Given the description of an element on the screen output the (x, y) to click on. 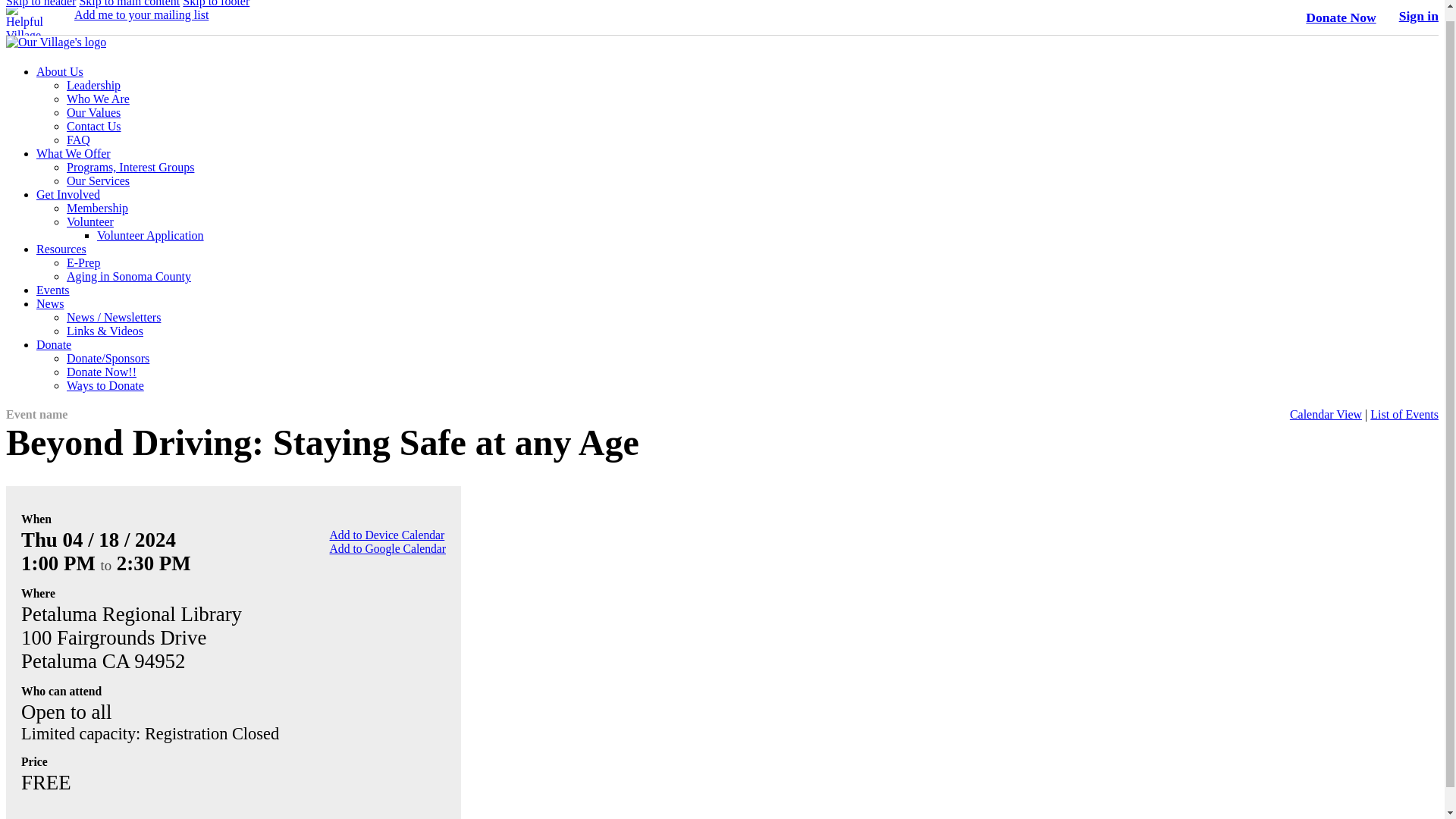
Add to Device Calendar (387, 534)
Skip to footer (215, 3)
What We Offer (73, 153)
Our Values (93, 112)
Add me to your mailing list (141, 14)
News (50, 303)
Skip to header (40, 3)
Donate Now (1340, 17)
Calendar View (1325, 413)
Programs, Interest Groups (129, 166)
E-Prep (83, 262)
Events (52, 289)
Contact Us (93, 125)
Aging in Sonoma County (128, 276)
Donate Now!! (101, 371)
